Given the description of an element on the screen output the (x, y) to click on. 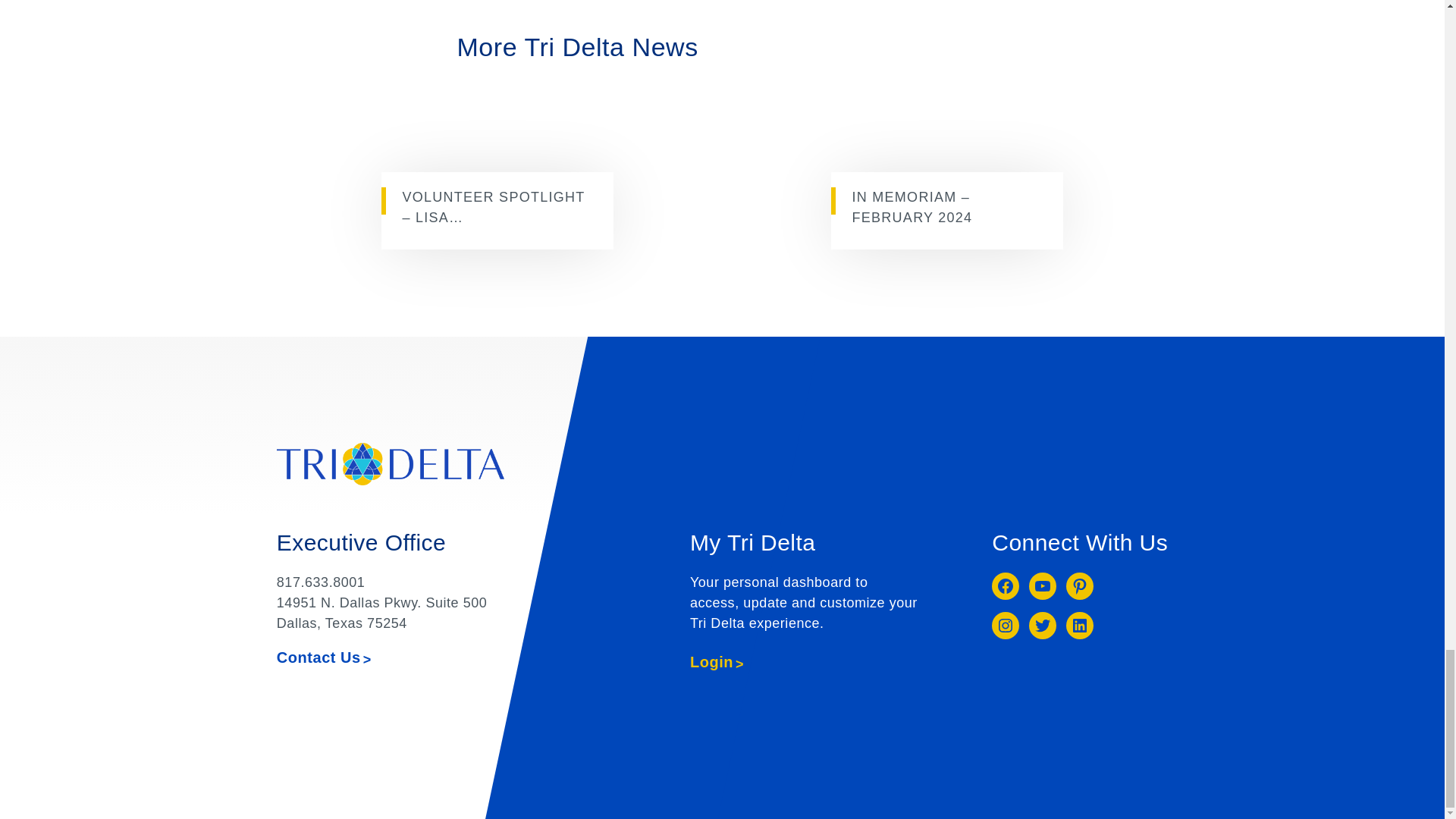
Facebook (1005, 585)
You Tube (1043, 585)
LinkedIn (1079, 625)
Instagram (1005, 625)
Twitter (1043, 625)
Pinterest (1079, 585)
